Given the description of an element on the screen output the (x, y) to click on. 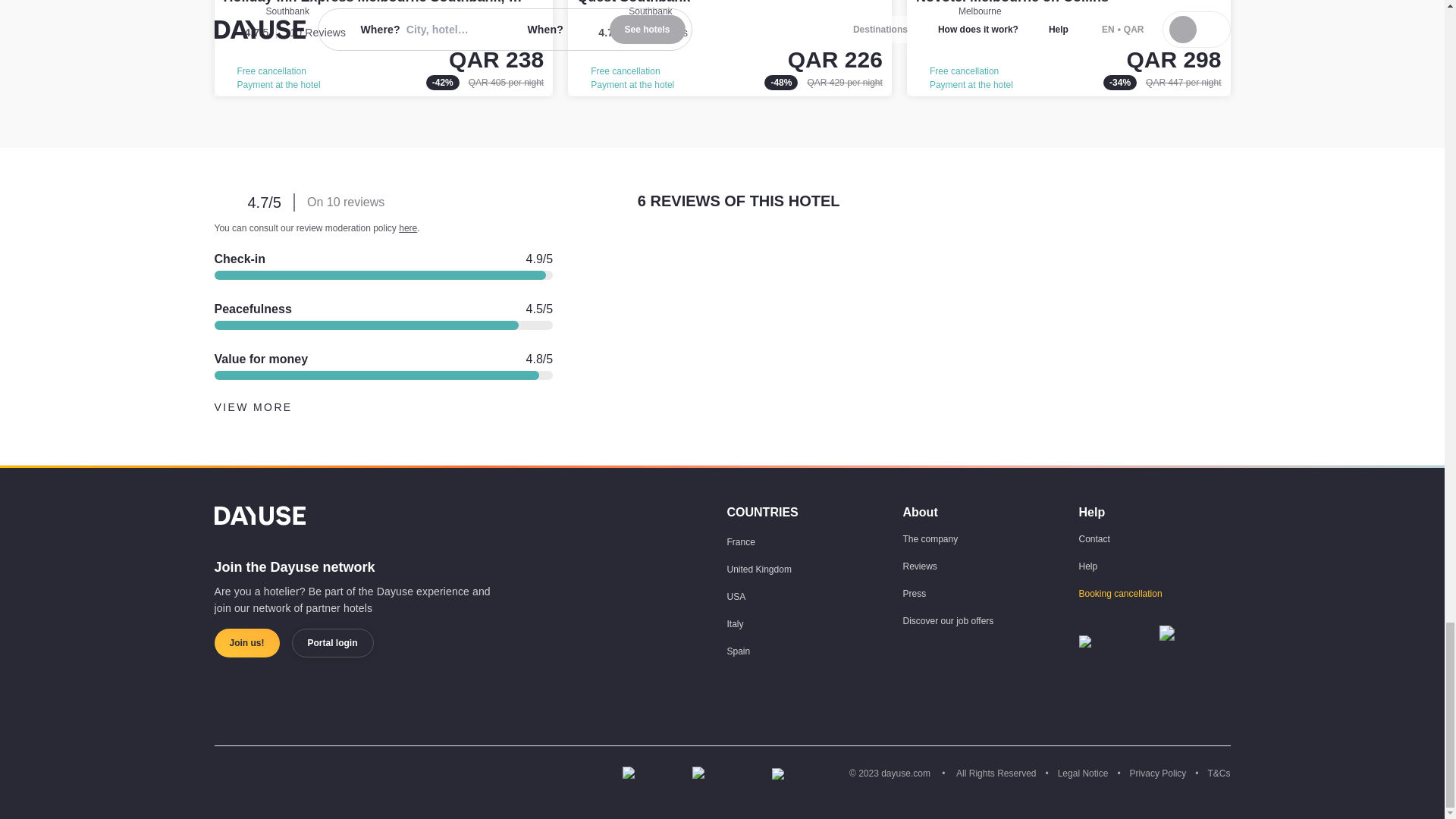
Holiday Inn Express Melbourne Southbank, an IHG Hotel (383, 48)
Quest Southbank (633, 2)
Quest Southbank (729, 48)
Holiday Inn Express Melbourne Southbank, an IHG Hotel (405, 2)
Novotel Melbourne on Collins (1068, 48)
Novotel Melbourne on Collins (1011, 2)
